Given the description of an element on the screen output the (x, y) to click on. 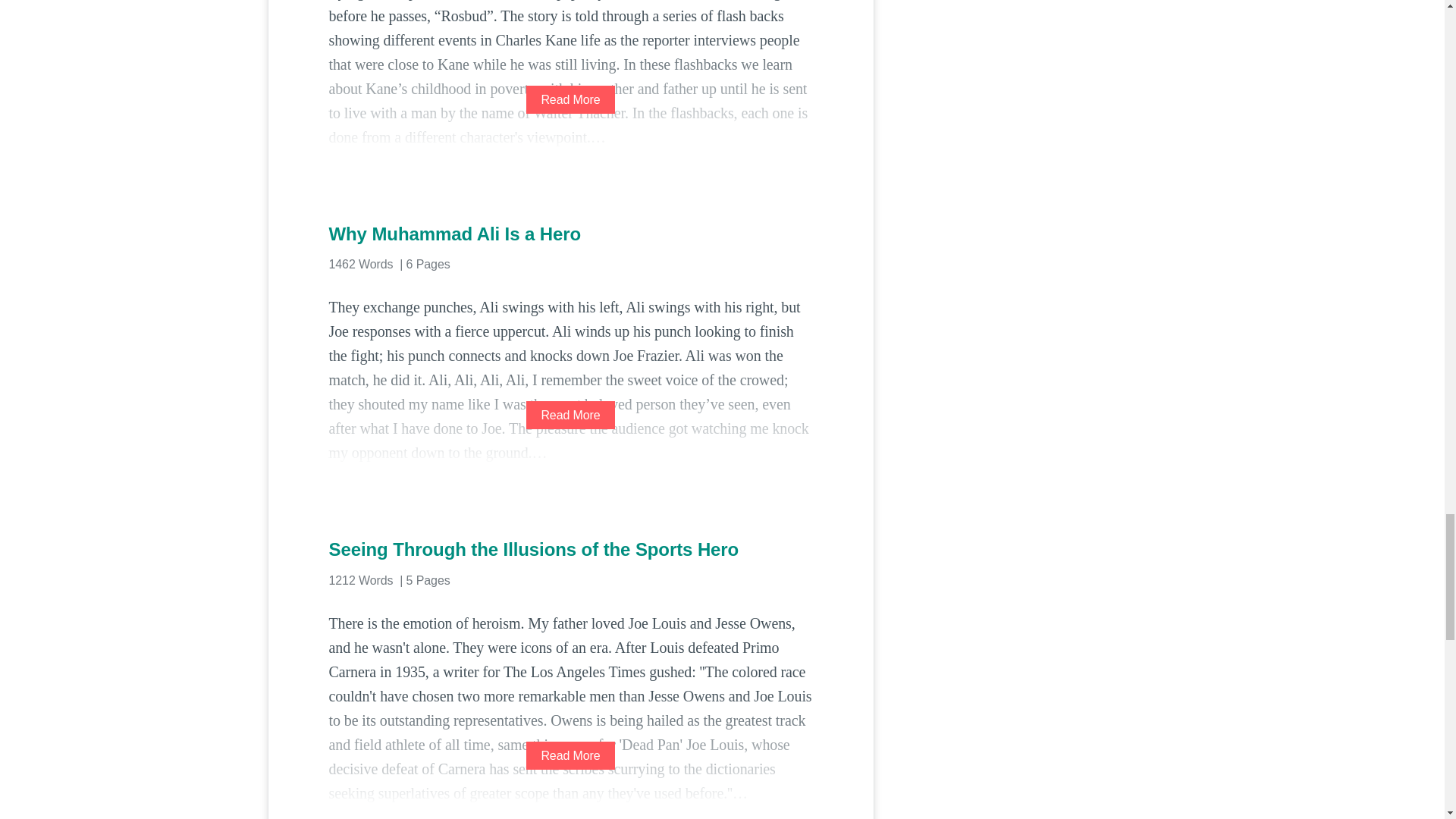
Seeing Through the Illusions of the Sports Hero (570, 549)
Read More (569, 415)
Why Muhammad Ali Is a Hero (570, 233)
Read More (569, 755)
Read More (569, 99)
